Given the description of an element on the screen output the (x, y) to click on. 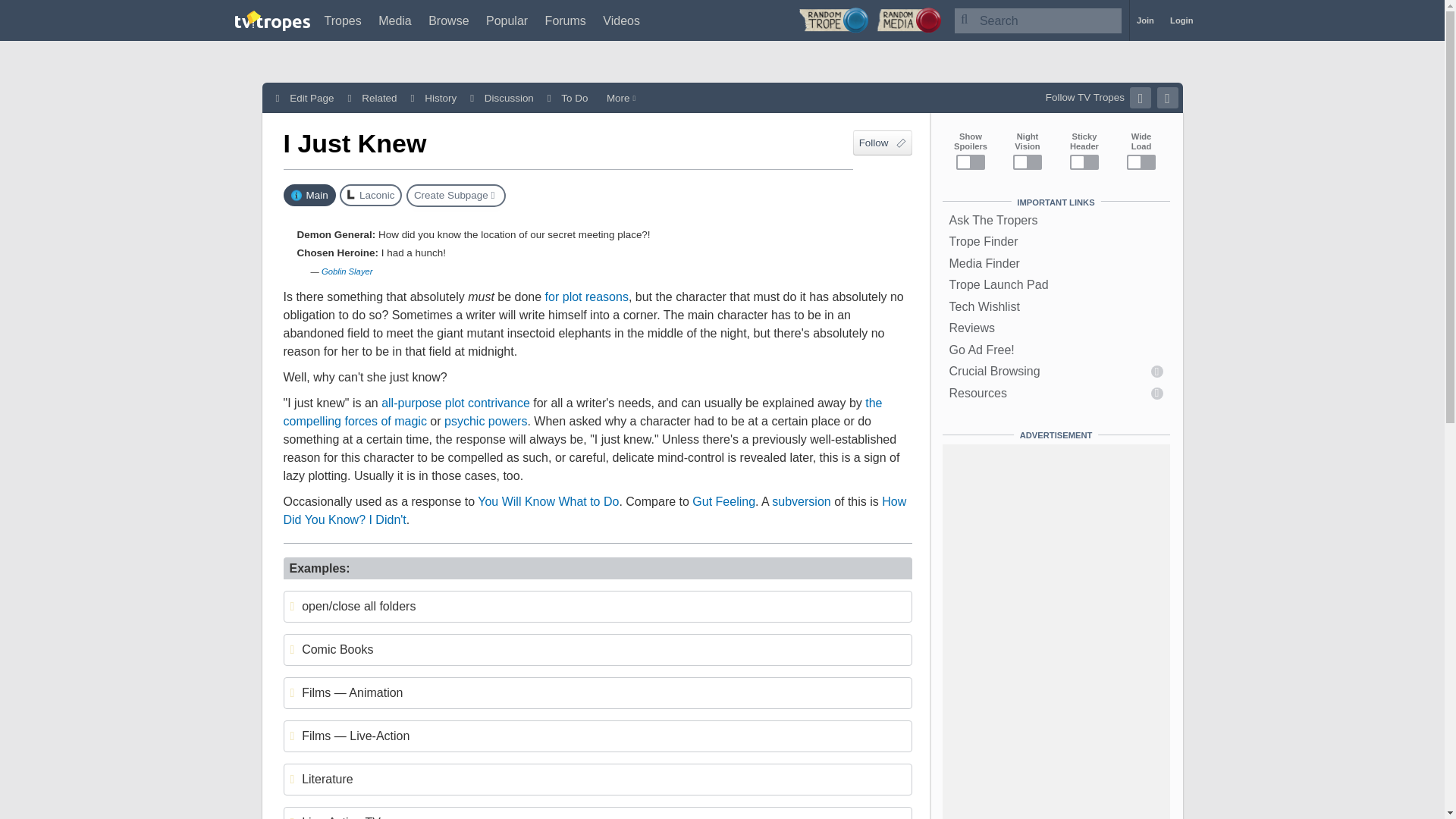
The Laconic page (370, 195)
Videos (621, 20)
Browse (448, 20)
Popular (506, 20)
Login (1181, 20)
Forums (565, 20)
The Main page (309, 195)
Media (395, 20)
Tropes (342, 20)
